Given the description of an element on the screen output the (x, y) to click on. 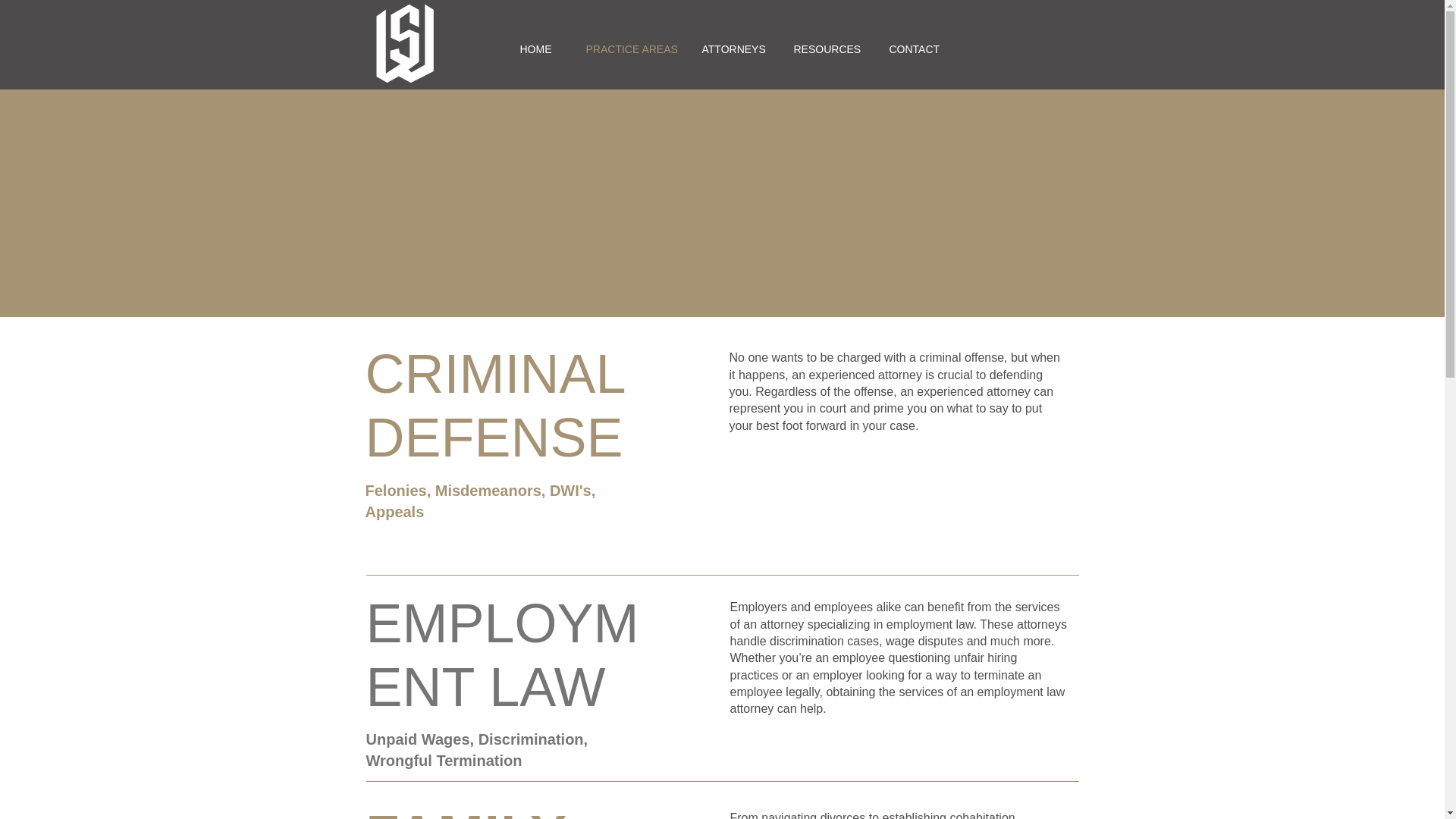
ATTORNEYS (728, 49)
RESOURCES (822, 49)
PRACTICE AREAS (624, 49)
HOME (533, 49)
CONTACT (909, 49)
